Given the description of an element on the screen output the (x, y) to click on. 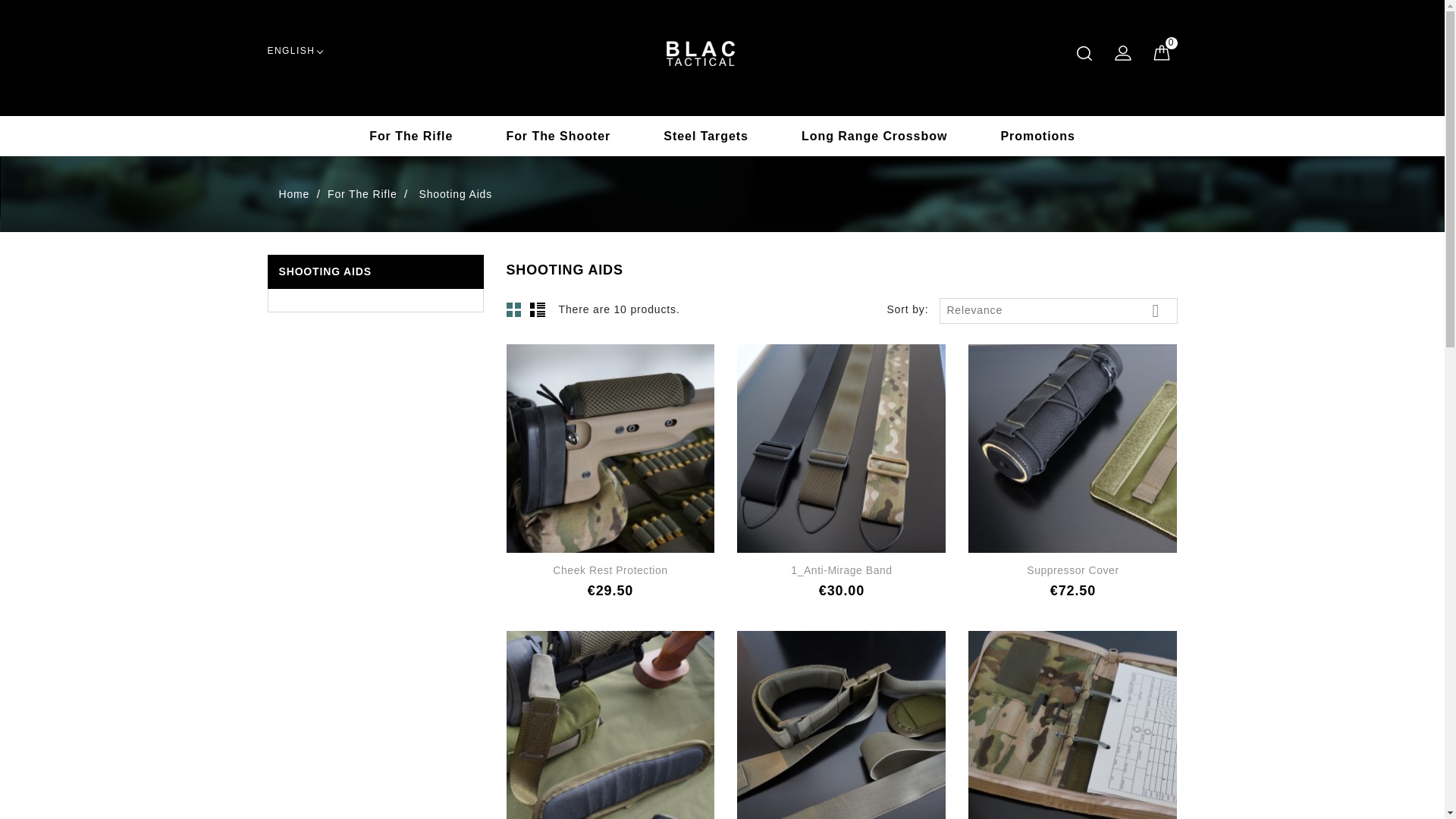
List (536, 309)
Promotions (1037, 136)
List (536, 309)
0 (1161, 51)
Grid (513, 309)
For The Rifle (363, 195)
SHOOTING AIDS (325, 271)
For The Shooter (557, 136)
Steel Targets (705, 136)
Long Range Crossbow (874, 136)
